Given the description of an element on the screen output the (x, y) to click on. 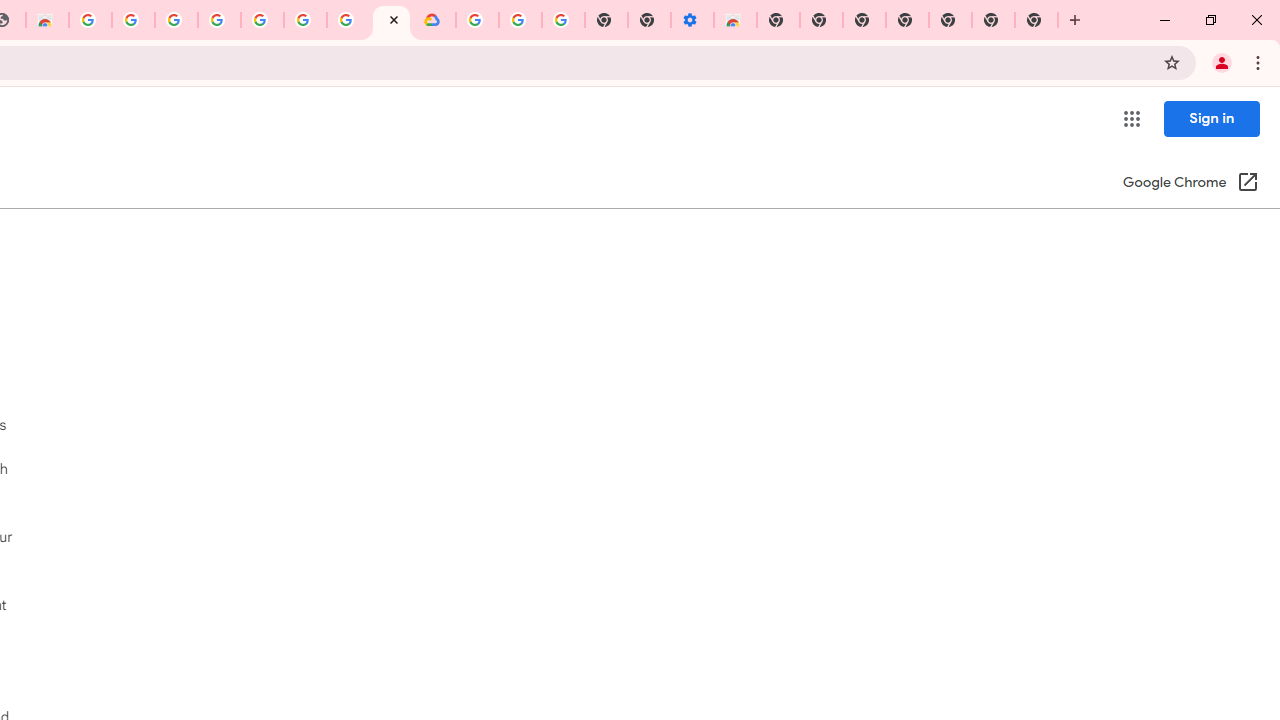
Create your Google Account (347, 20)
Chrome Web Store - Accessibility extensions (735, 20)
Google Chrome (Open in a new window) (1190, 183)
Google Account Help (262, 20)
Sign in - Google Accounts (477, 20)
Google Account Help (520, 20)
Google apps (1132, 118)
New Tab (1036, 20)
Settings - Accessibility (692, 20)
